Given the description of an element on the screen output the (x, y) to click on. 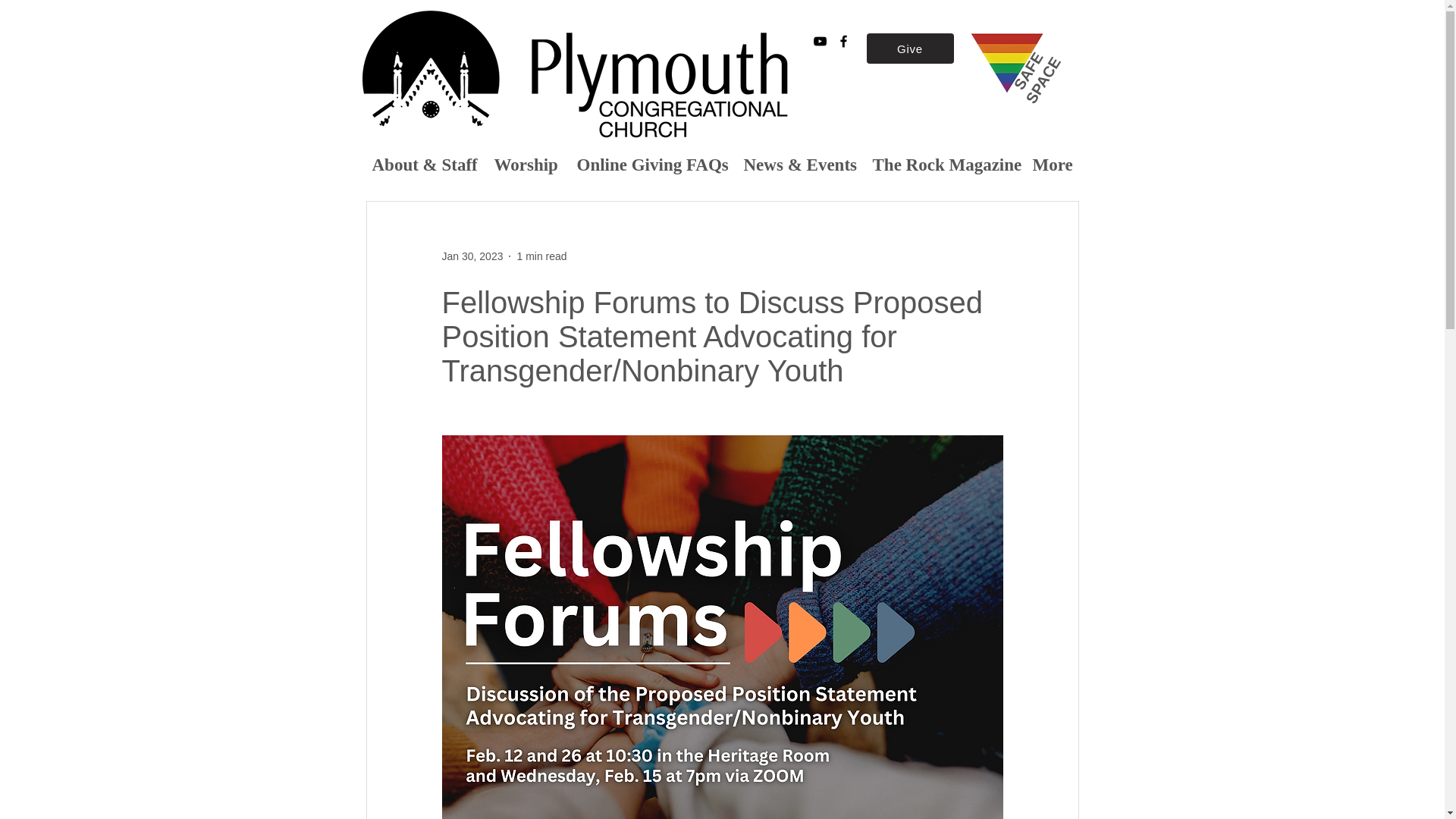
Jan 30, 2023 (471, 256)
The Rock Magazine (941, 164)
Online Giving FAQs (649, 164)
Worship (522, 164)
1 min read (541, 256)
Give (909, 48)
